Given the description of an element on the screen output the (x, y) to click on. 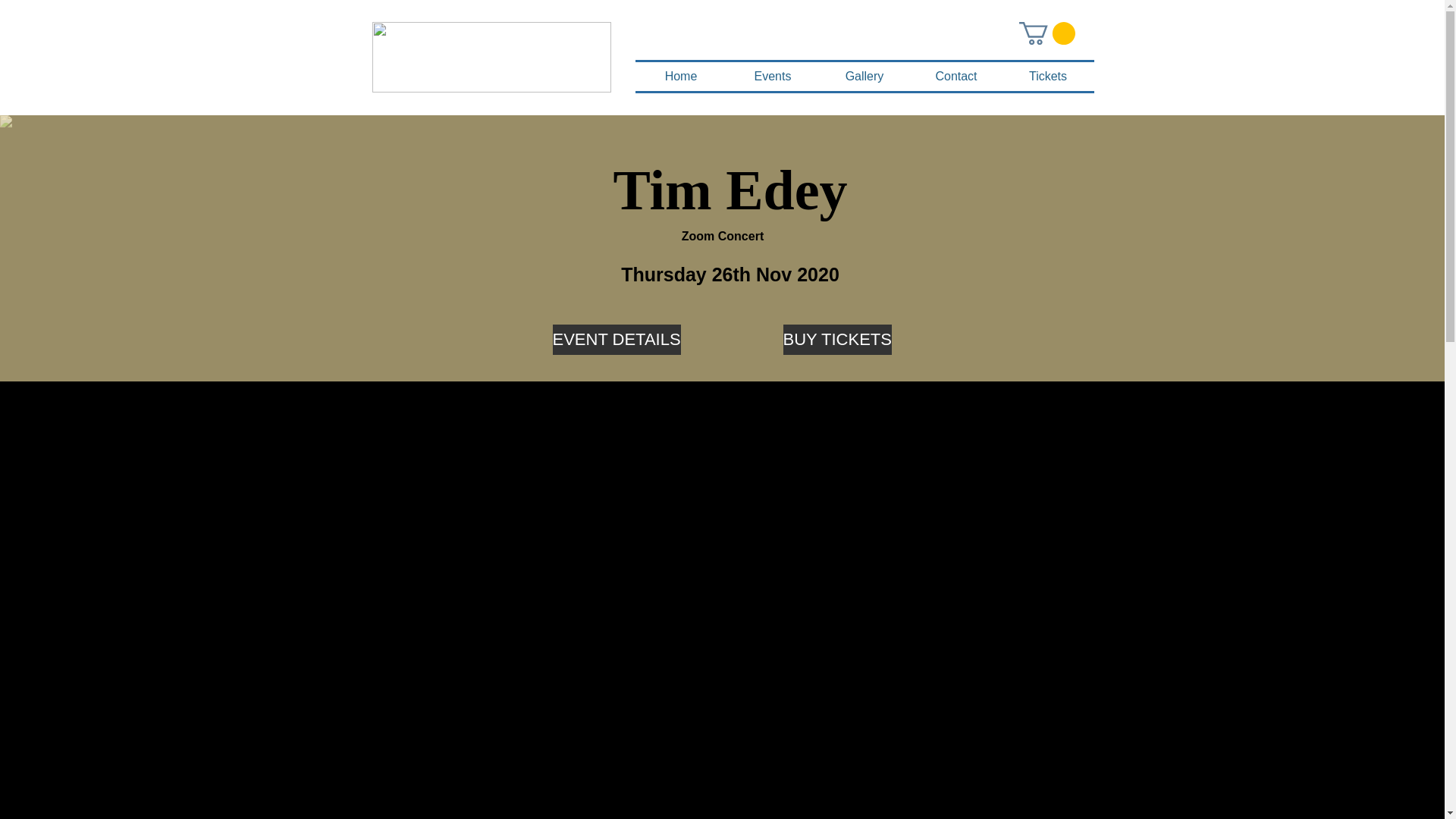
EVENT DETAILS (615, 339)
Contact (955, 76)
Gallery (864, 76)
Events (772, 76)
BUY TICKETS (837, 339)
Tickets (1048, 76)
Home (680, 76)
